Given the description of an element on the screen output the (x, y) to click on. 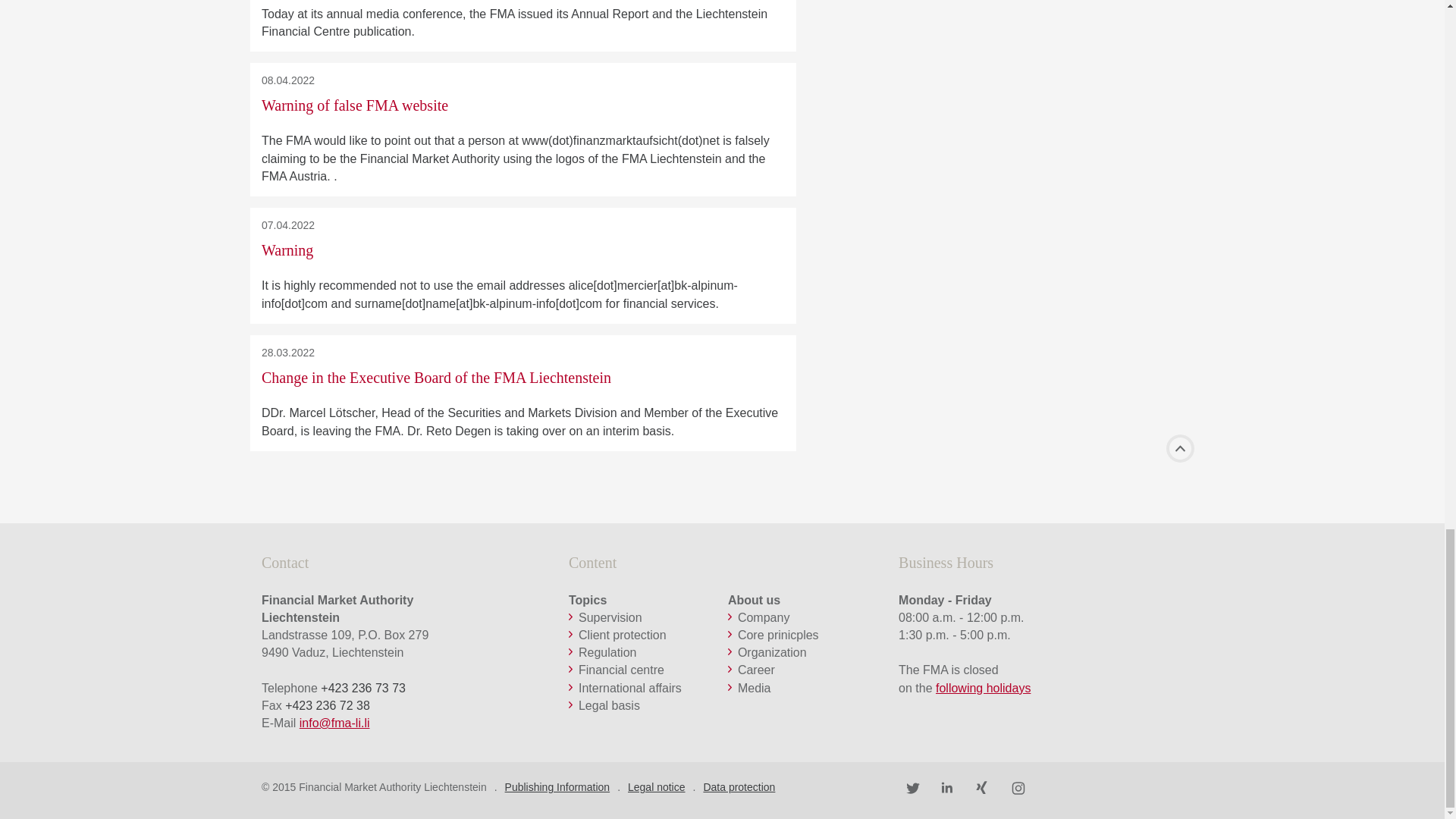
Kontaktieren Sie uns per Fax (327, 705)
twitter (912, 786)
Kontaktieren Sie uns per Telefon (363, 687)
Change in the Executive Board of the FMA Liechtenstein (436, 377)
instagram (1019, 786)
nach oben (1179, 448)
xing (983, 786)
Warning of false FMA website (355, 105)
linkedin (948, 786)
Kontaktieren Sie uns per E-Mail (334, 722)
